Given the description of an element on the screen output the (x, y) to click on. 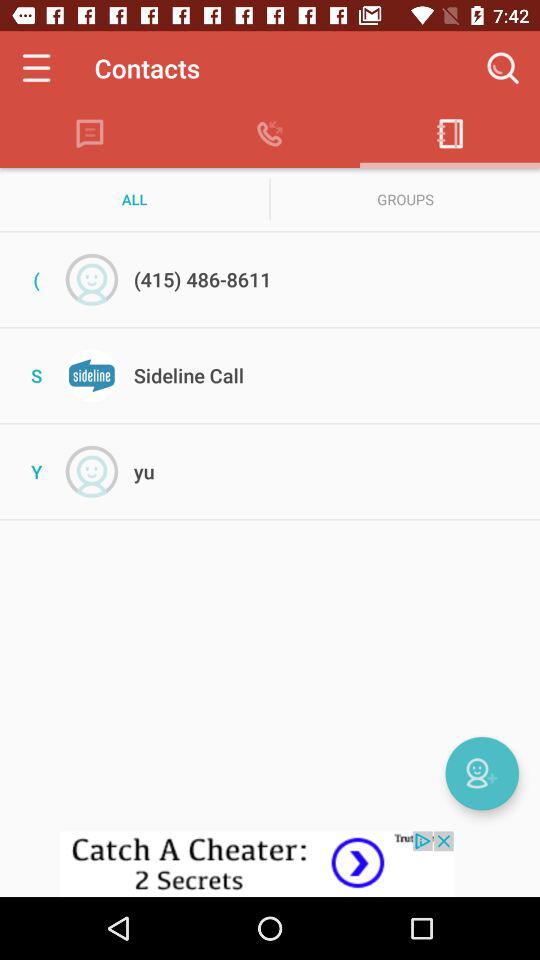
webcam options (482, 773)
